Given the description of an element on the screen output the (x, y) to click on. 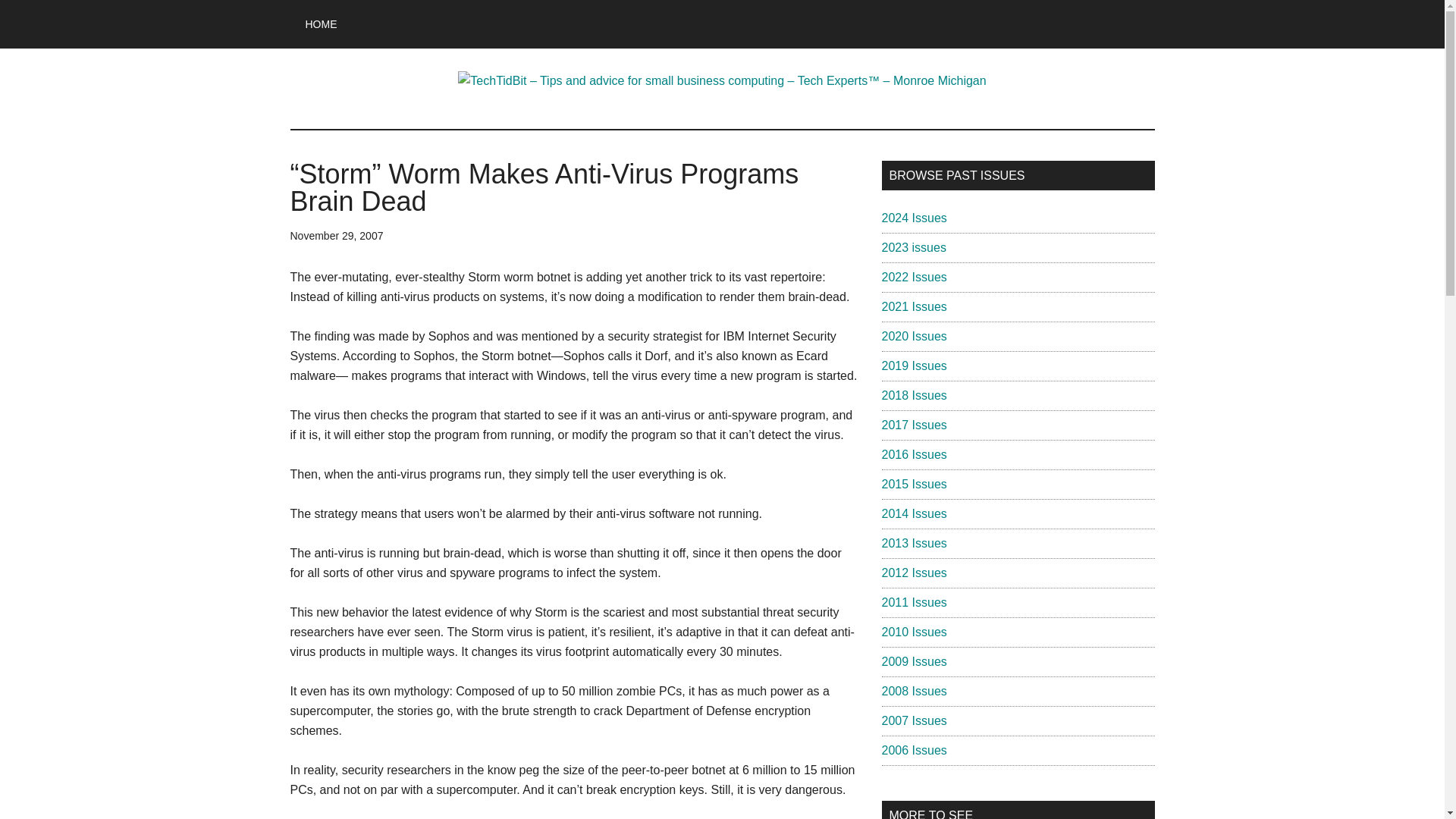
2023 issues (912, 246)
2007 Issues (913, 720)
2016 Issues (913, 454)
HOME (320, 24)
2018 Issues (913, 395)
2010 Issues (913, 631)
2009 Issues (913, 661)
2011 Issues (913, 602)
2022 Issues (913, 277)
2015 Issues (913, 483)
2021 Issues (913, 306)
2014 Issues (913, 513)
2024 Issues (913, 217)
2006 Issues (913, 749)
